Given the description of an element on the screen output the (x, y) to click on. 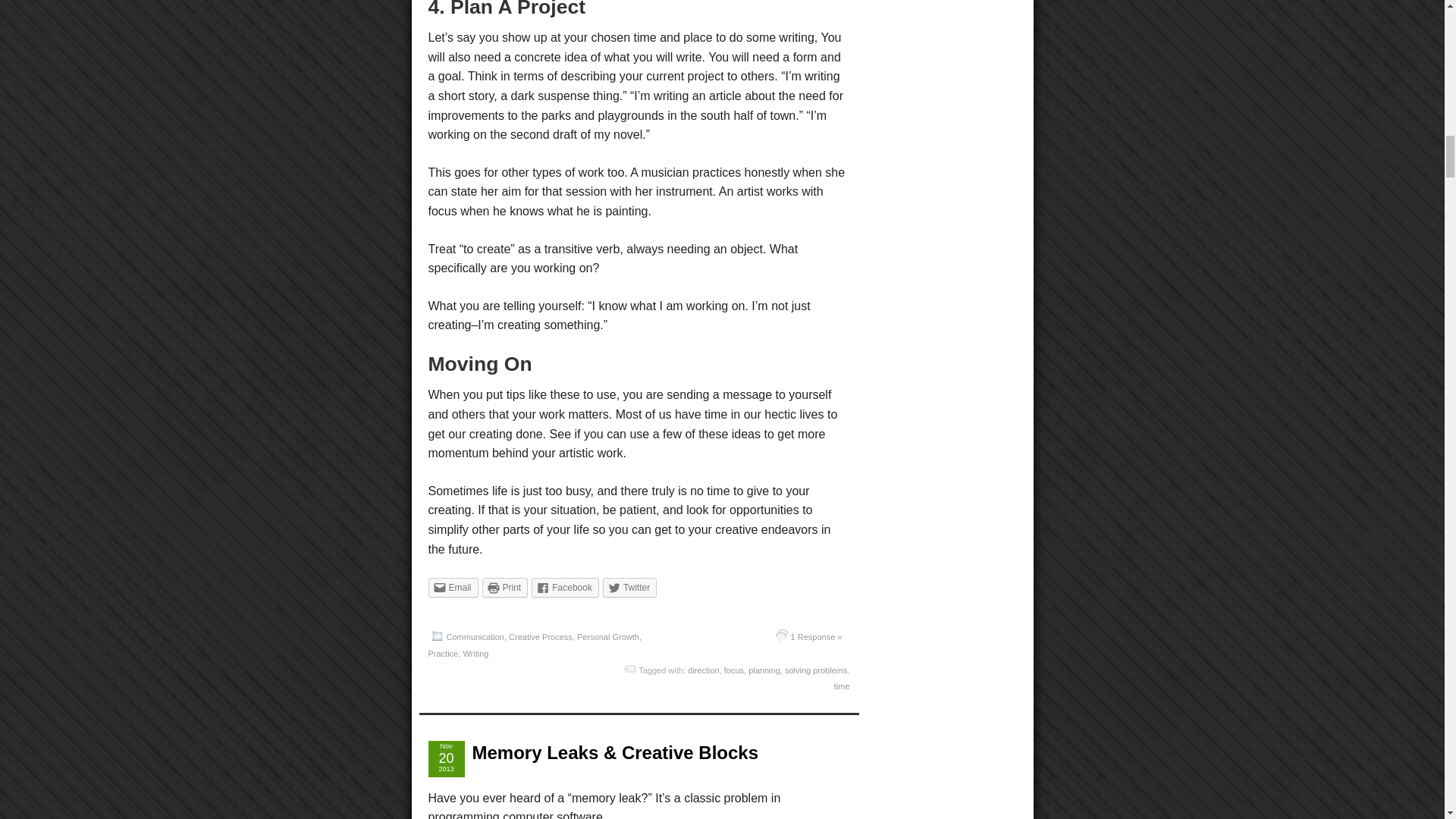
Practice (443, 653)
Click to share on Facebook (564, 587)
Twitter (629, 587)
time (842, 686)
Click to email this to a friend (452, 587)
Click to print (504, 587)
focus (733, 669)
Print (504, 587)
Email (452, 587)
solving problems (815, 669)
direction (703, 669)
Communication (474, 636)
Personal Growth (607, 636)
Writing (475, 653)
Click to share on Twitter (629, 587)
